Given the description of an element on the screen output the (x, y) to click on. 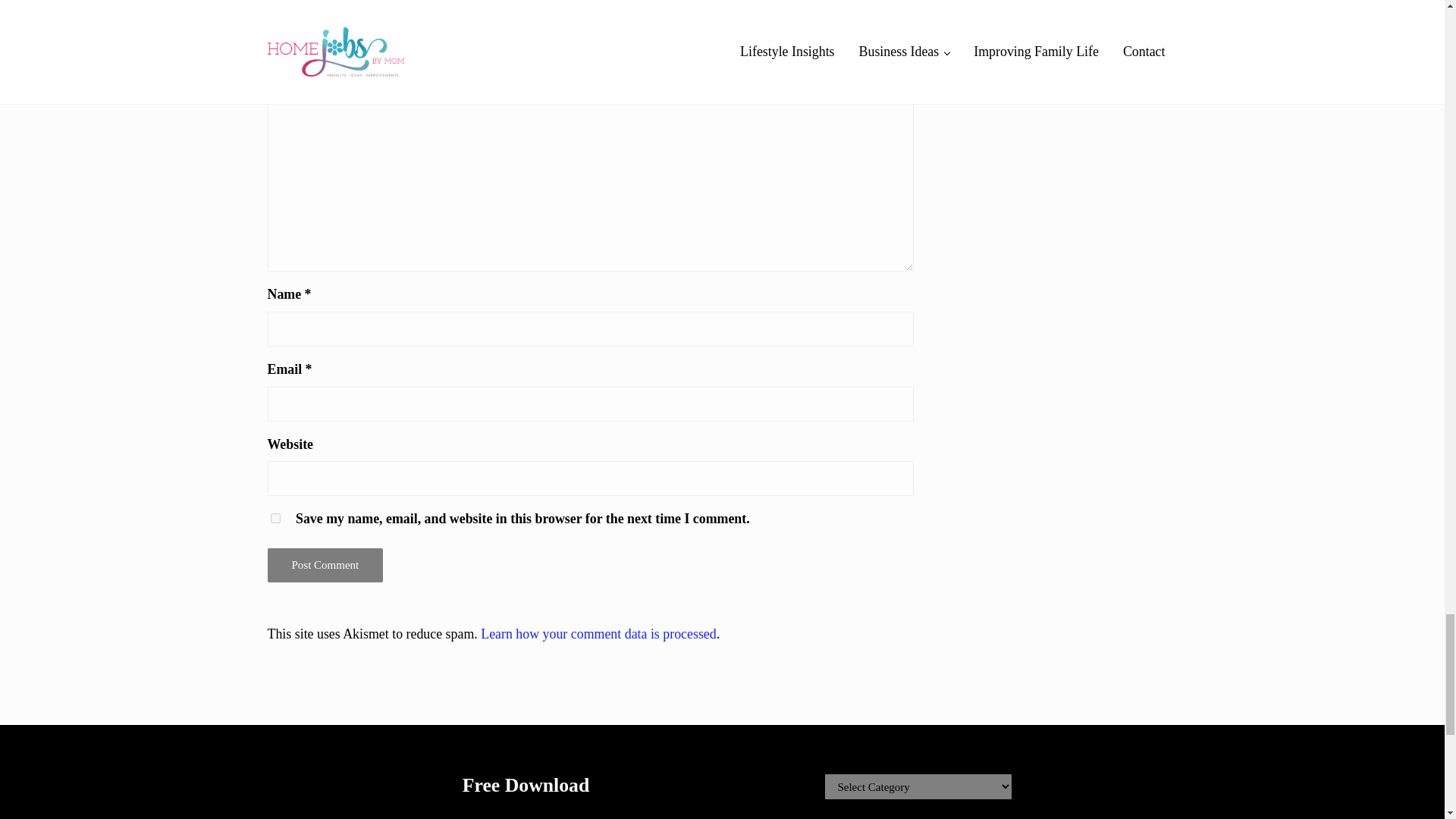
yes (274, 518)
Post Comment (324, 564)
